Given the description of an element on the screen output the (x, y) to click on. 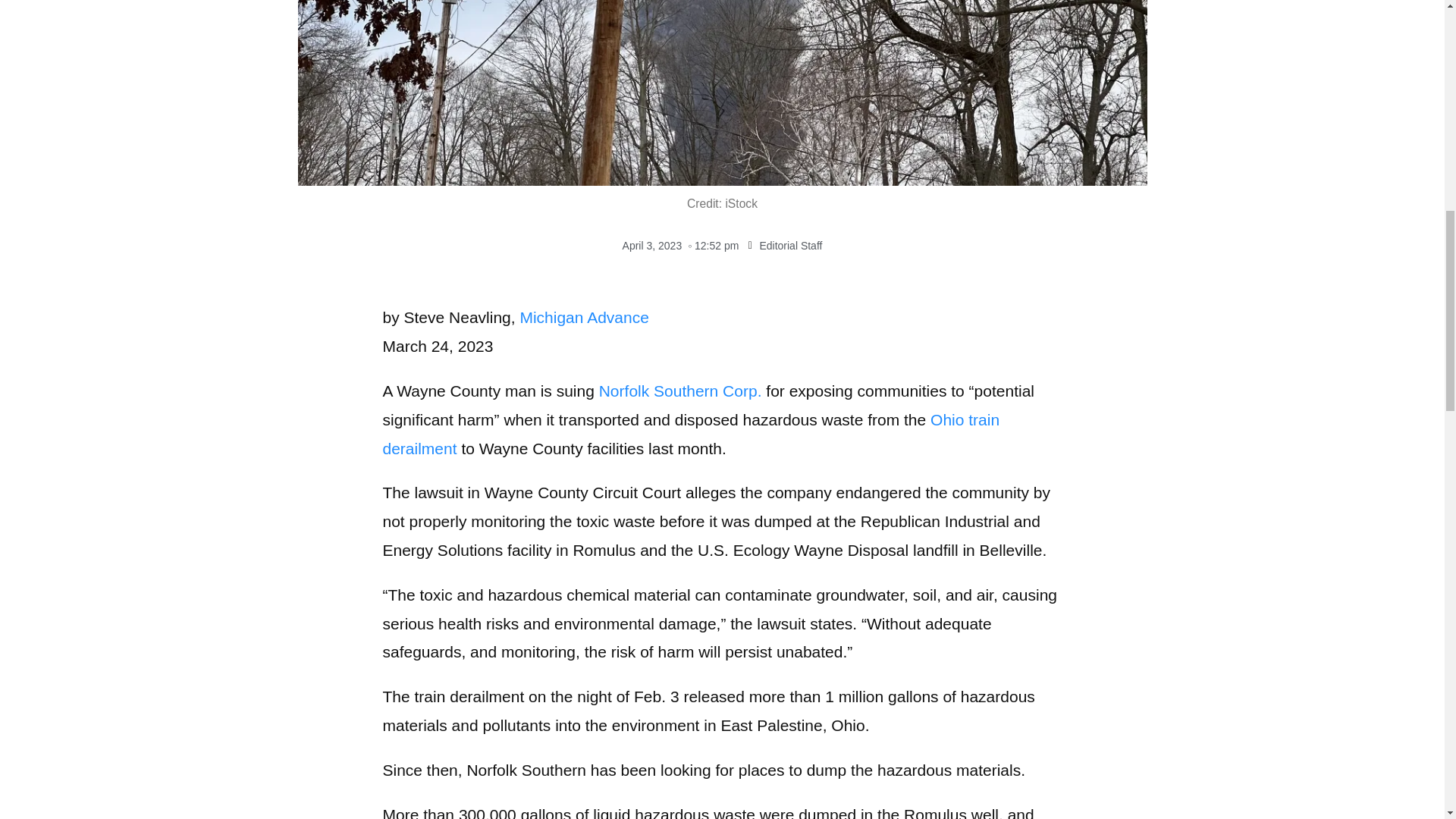
Michigan Advance (583, 316)
Norfolk Southern Corp. (679, 390)
Ohio train derailment (689, 434)
